Given the description of an element on the screen output the (x, y) to click on. 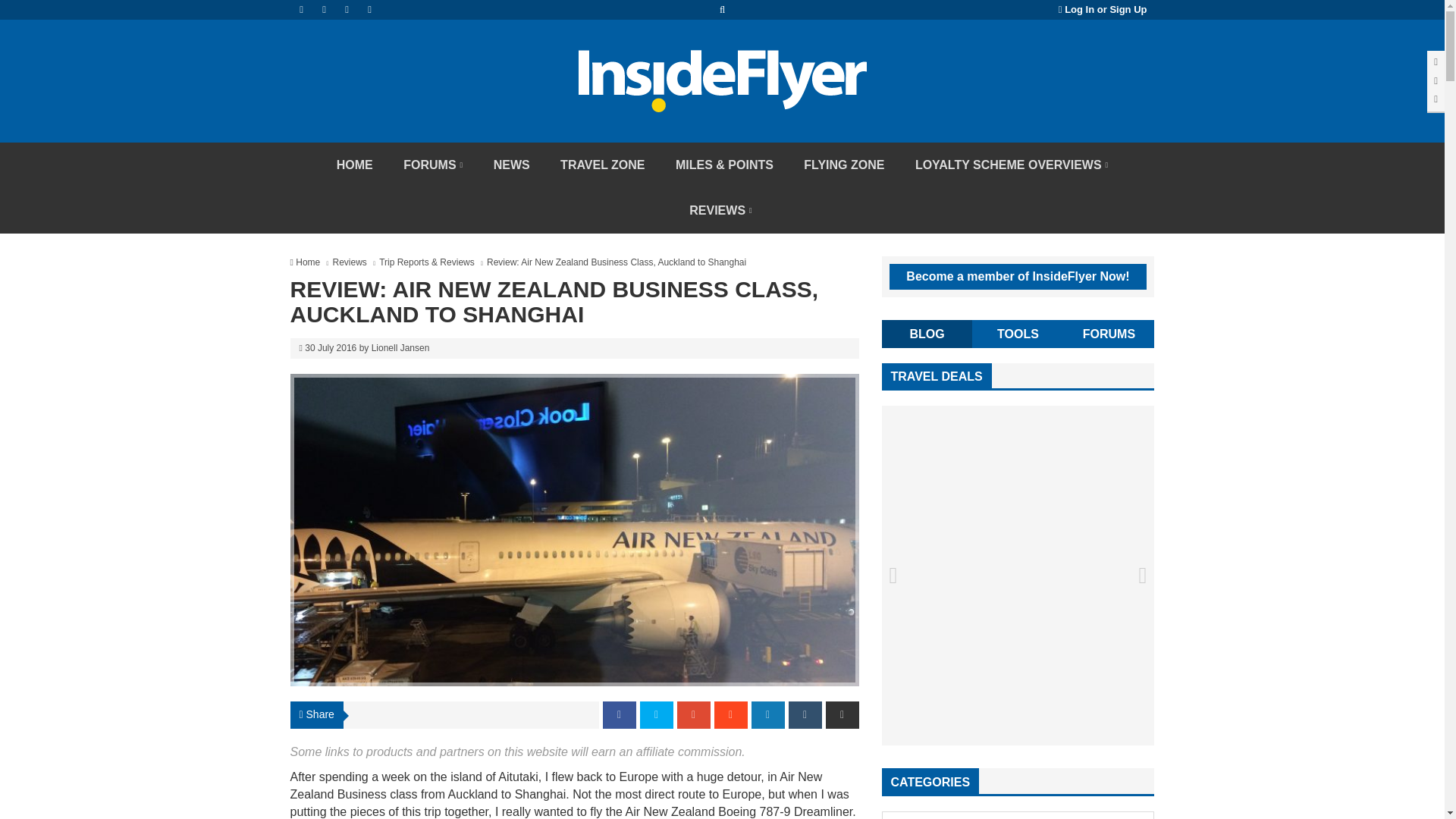
FORUMS (432, 165)
REVIEWS (720, 210)
NEWS (511, 165)
HOME (354, 165)
LOYALTY SCHEME OVERVIEWS (1010, 165)
TRAVEL ZONE (601, 165)
Log In or Sign Up (1102, 9)
FLYING ZONE (844, 165)
